Given the description of an element on the screen output the (x, y) to click on. 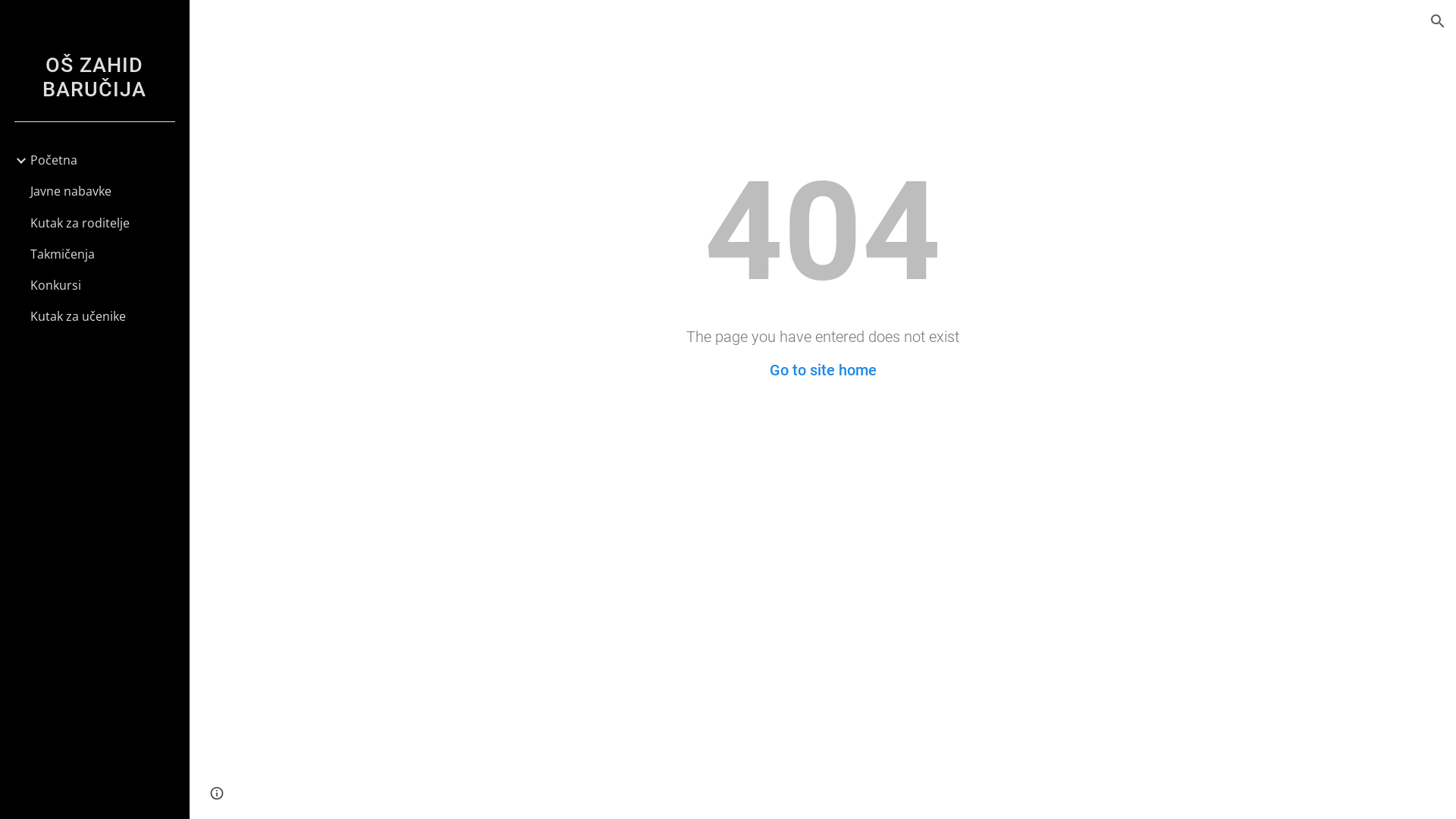
Expand/Collapse Element type: hover (16, 160)
Go to site home Element type: text (821, 369)
Konkursi Element type: text (103, 285)
Kutak za roditelje Element type: text (103, 222)
Javne nabavke Element type: text (103, 191)
